Given the description of an element on the screen output the (x, y) to click on. 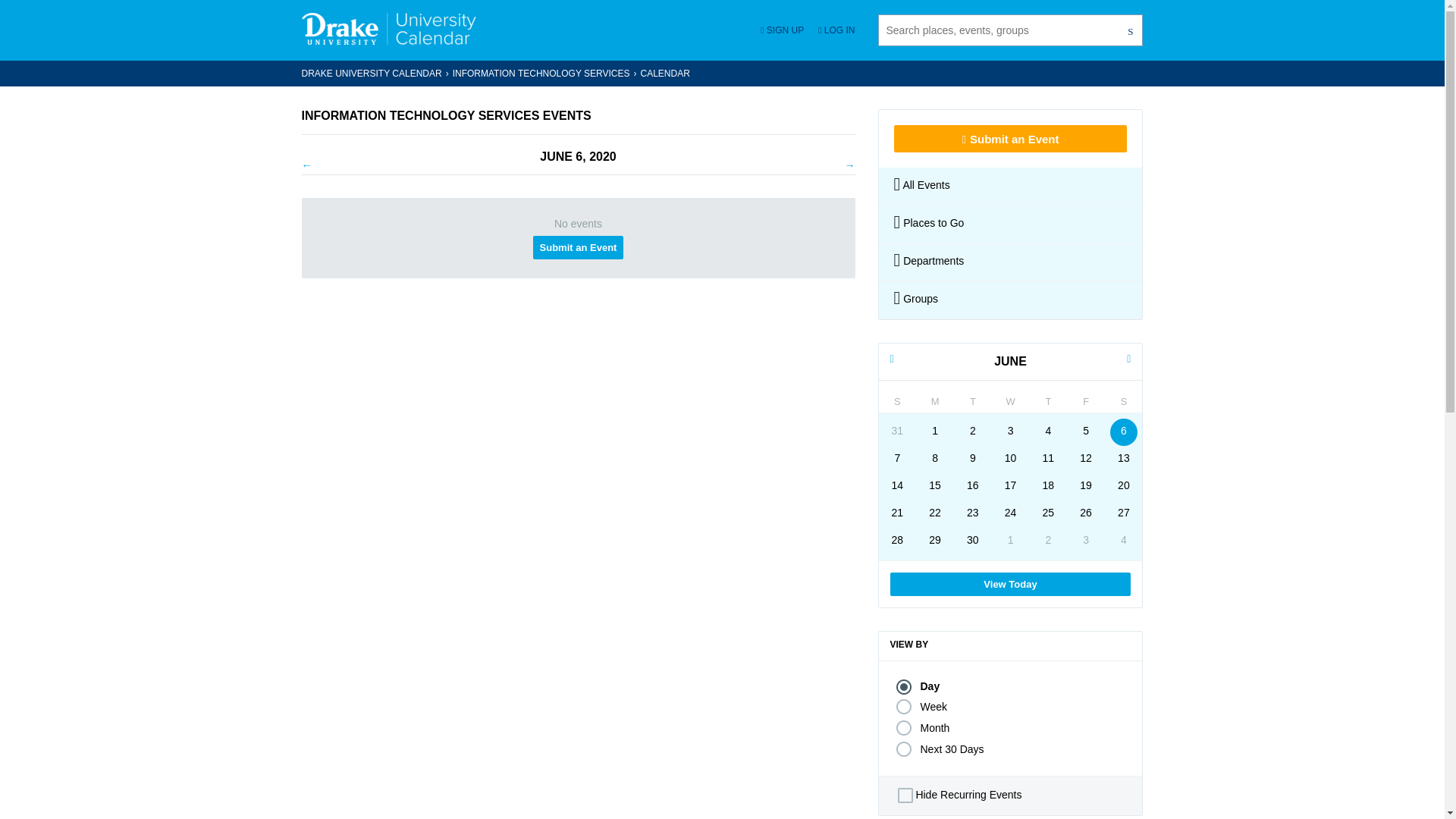
All Events (1009, 186)
Places to Go (1085, 486)
Search (1009, 224)
INFORMATION TECHNOLOGY SERVICES (935, 513)
LOG IN (1131, 30)
Switch to (541, 72)
SIGN UP (1085, 431)
Switch to (897, 486)
